Given the description of an element on the screen output the (x, y) to click on. 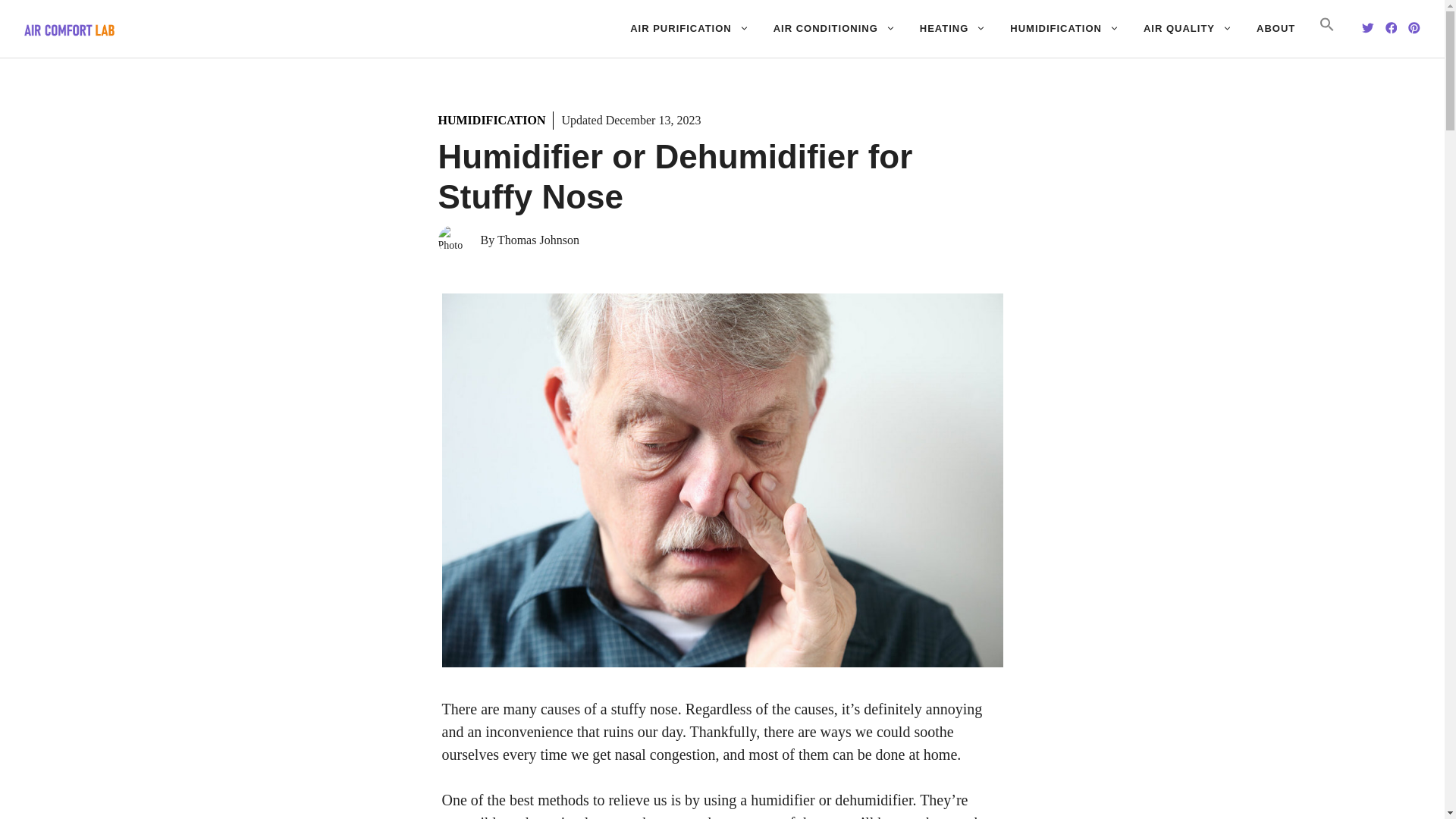
AIR PURIFICATION (688, 28)
HEATING (952, 28)
AIR CONDITIONING (834, 28)
